Given the description of an element on the screen output the (x, y) to click on. 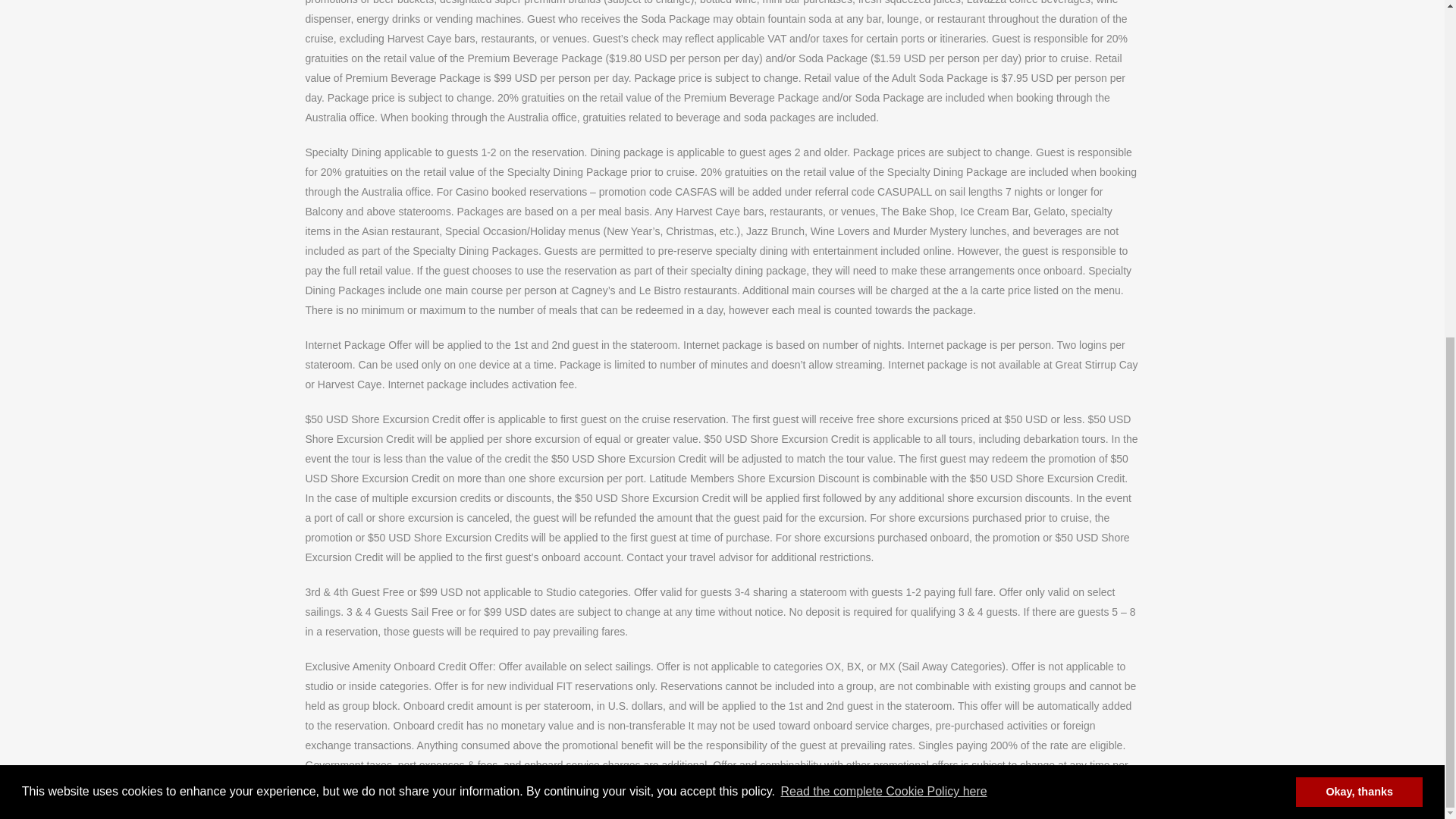
Okay, thanks (1358, 224)
Read the complete Cookie Policy here (883, 223)
